Given the description of an element on the screen output the (x, y) to click on. 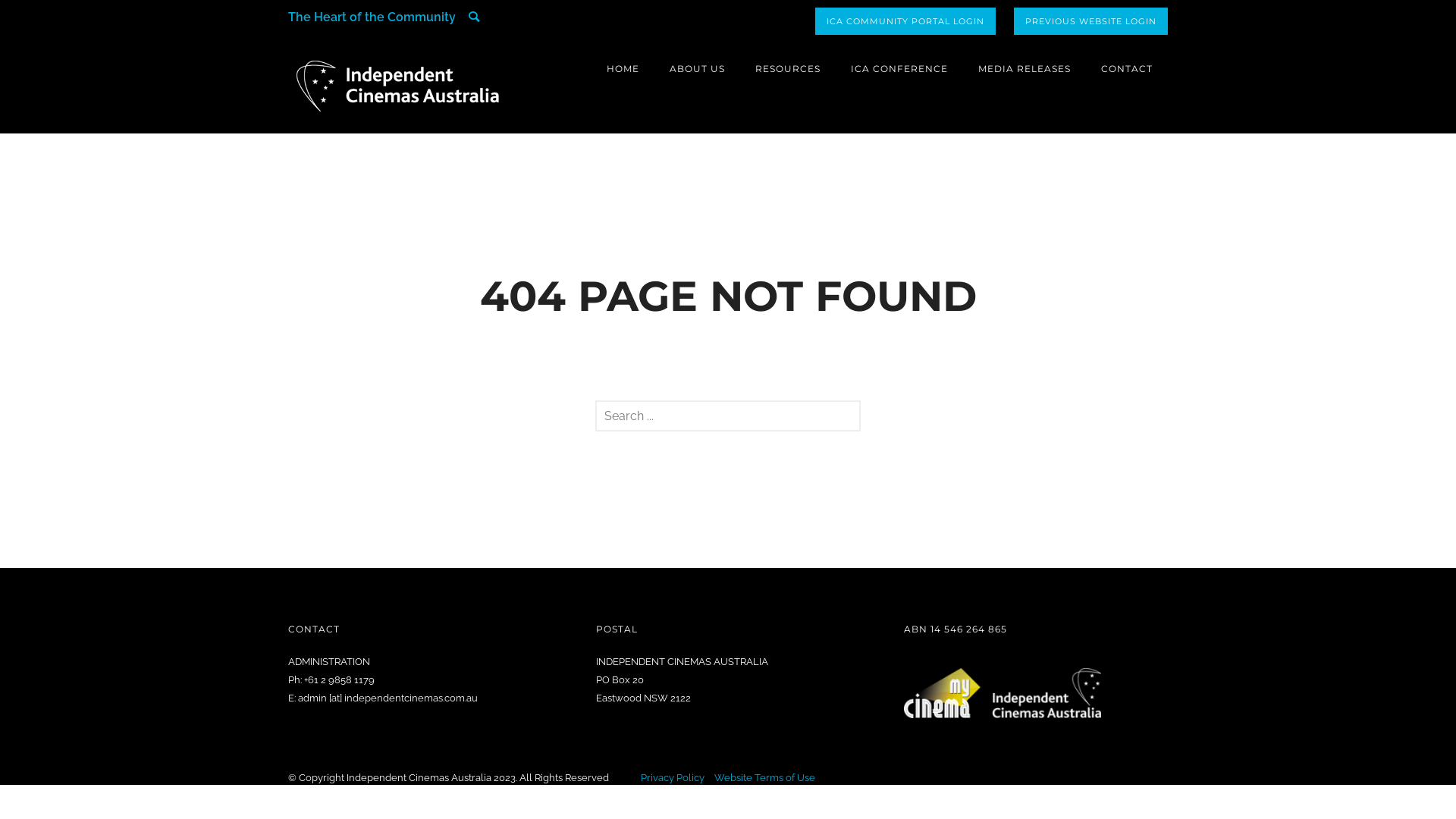
Privacy Policy Element type: text (672, 777)
ABOUT US Element type: text (697, 68)
ICA COMMUNITY PORTAL LOGIN Element type: text (905, 20)
HOME Element type: text (622, 68)
CONTACT Element type: text (1126, 68)
MEDIA RELEASES Element type: text (1024, 68)
RESOURCES Element type: text (787, 68)
Website Terms of Use Element type: text (764, 777)
ICA CONFERENCE Element type: text (899, 68)
PREVIOUS WEBSITE LOGIN Element type: text (1090, 20)
